Given the description of an element on the screen output the (x, y) to click on. 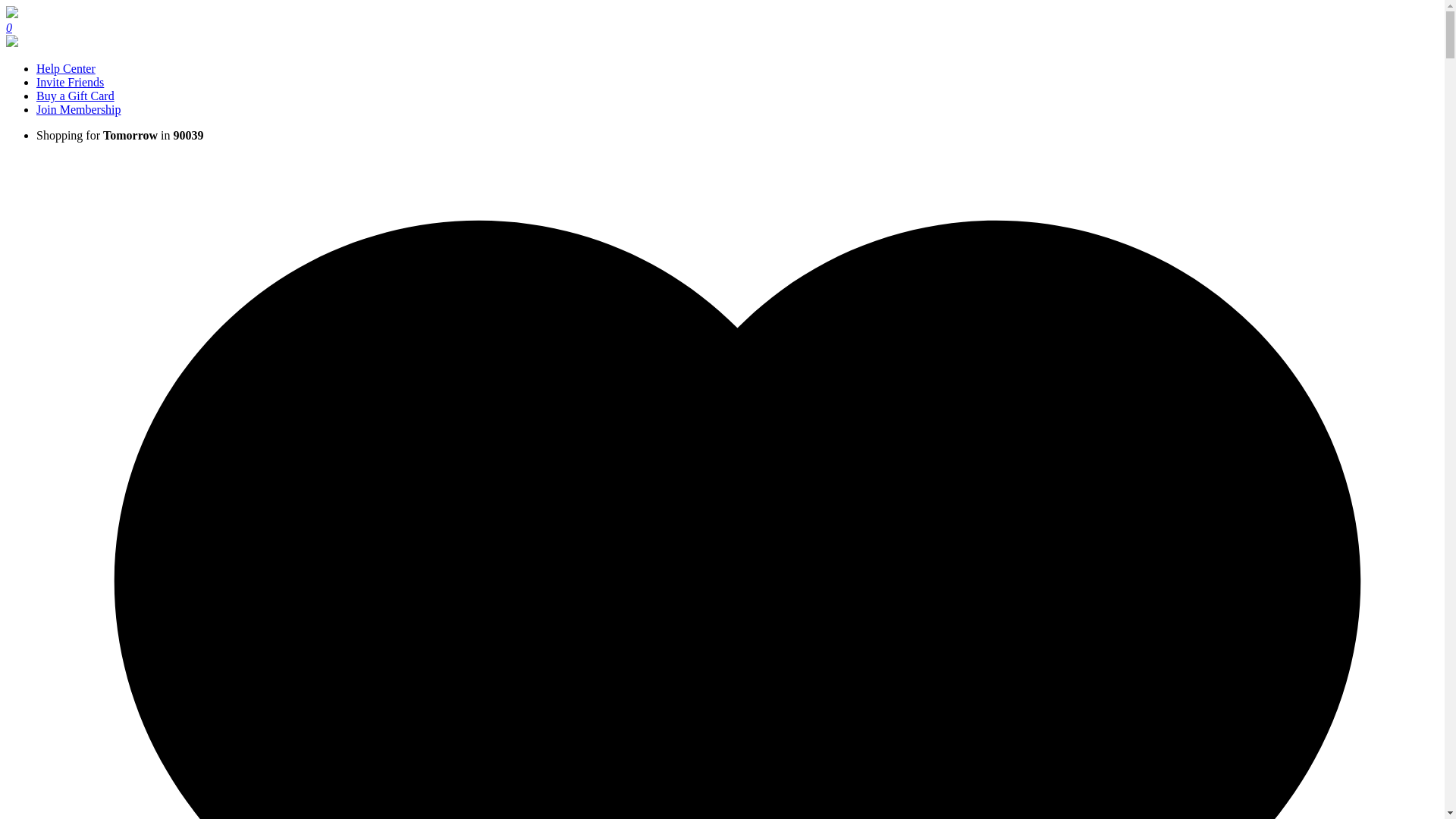
Help Center (66, 68)
Invite Friends (69, 82)
Buy a Gift Card (75, 95)
Join Membership (78, 109)
